Given the description of an element on the screen output the (x, y) to click on. 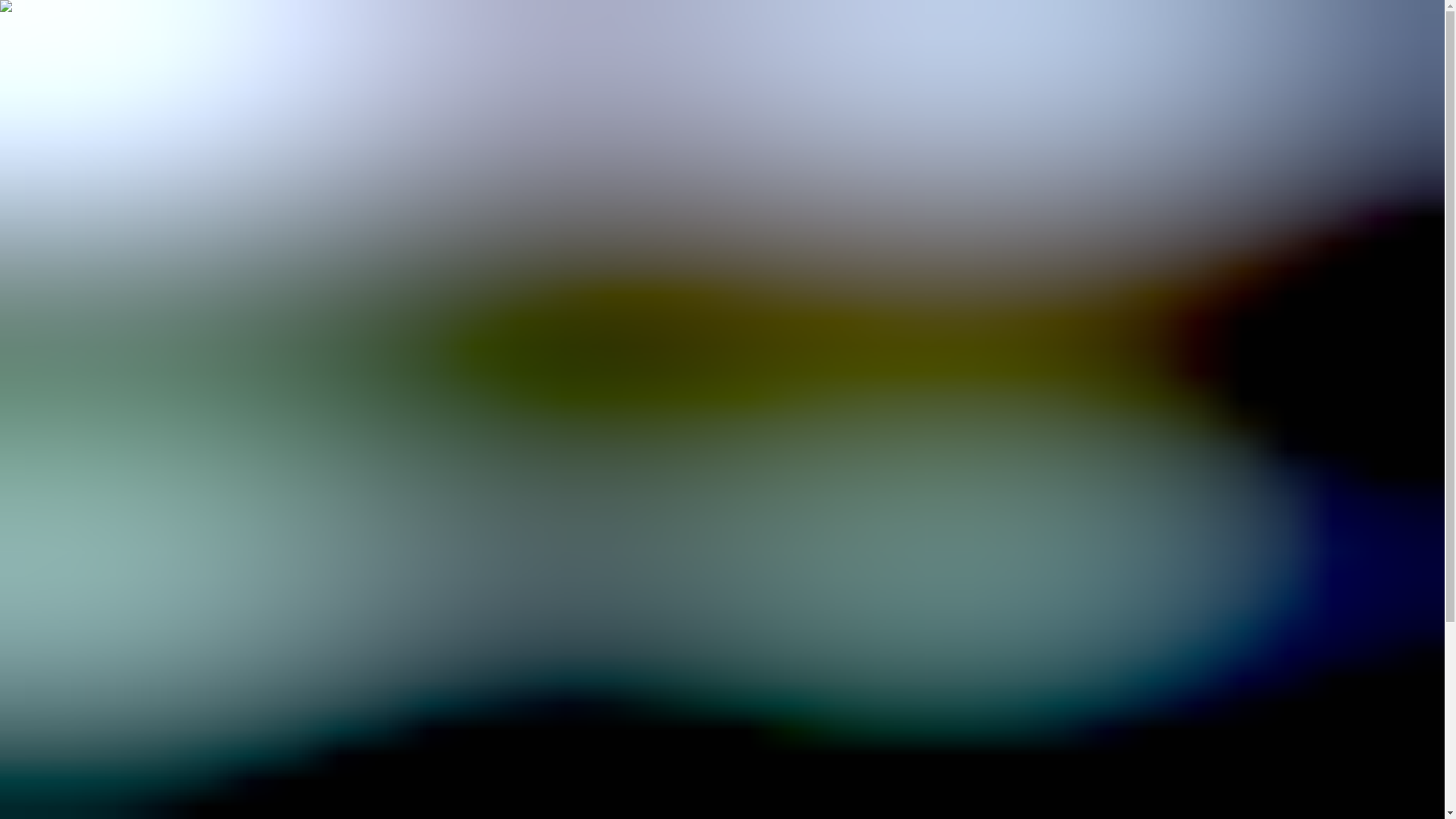
Meet (53, 103)
About us (62, 129)
Events (52, 435)
Study here (62, 549)
Business events (74, 748)
Home (50, 229)
Working here (68, 535)
Investment in action (85, 634)
Meet (20, 705)
Living here (64, 521)
Things to do (66, 394)
Our economic strengths (94, 648)
Plan your trip (69, 462)
Do business (80, 74)
Places to go (65, 408)
